Given the description of an element on the screen output the (x, y) to click on. 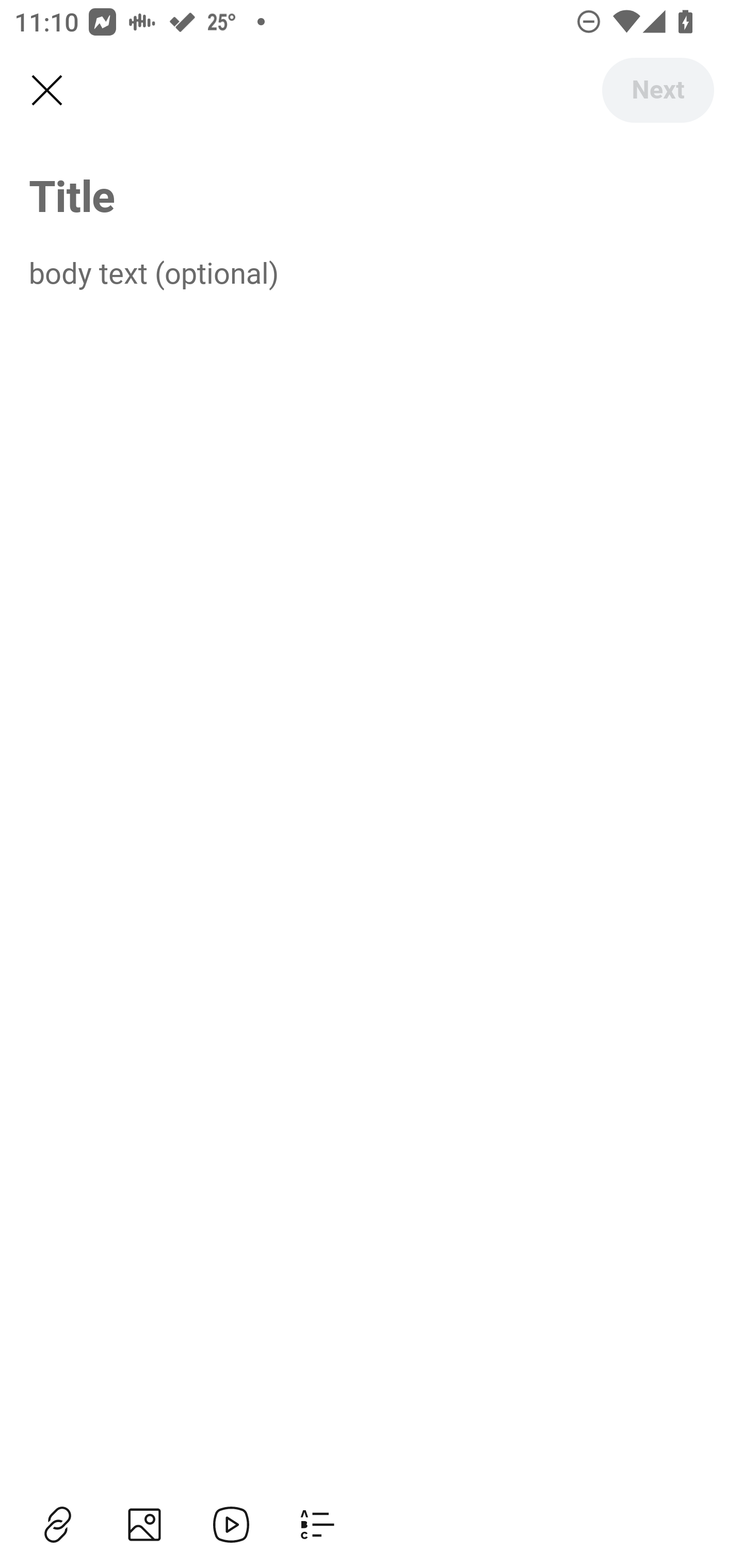
Close (46, 90)
Next (657, 90)
Post title (371, 195)
body text (optional) (371, 271)
